Given the description of an element on the screen output the (x, y) to click on. 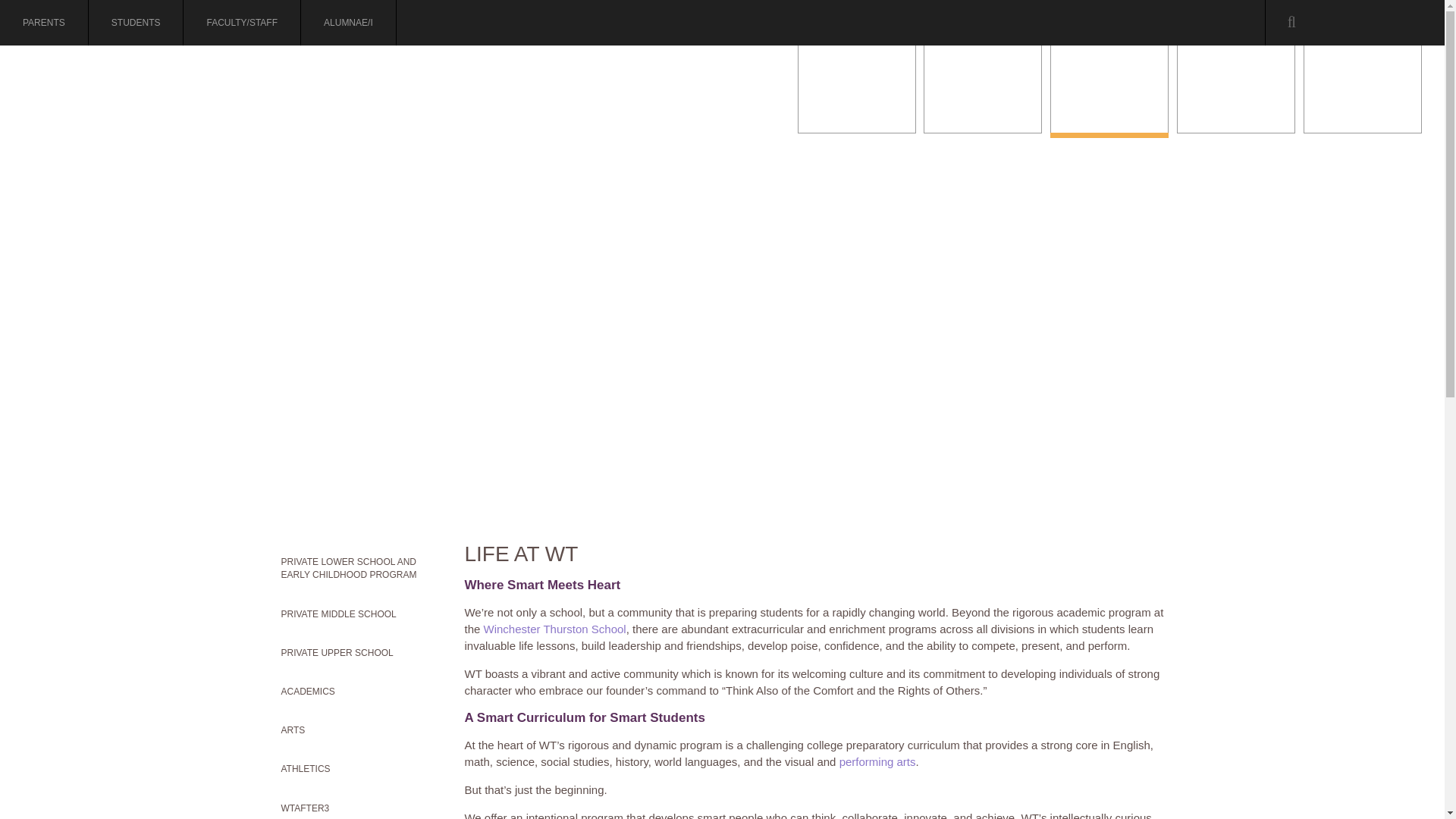
ABOUT US (856, 88)
PARENTS (43, 22)
STUDENTS (135, 22)
ADMISSION (982, 88)
Winchester Thurston School (298, 103)
LIFE AT WT (1109, 88)
